Given the description of an element on the screen output the (x, y) to click on. 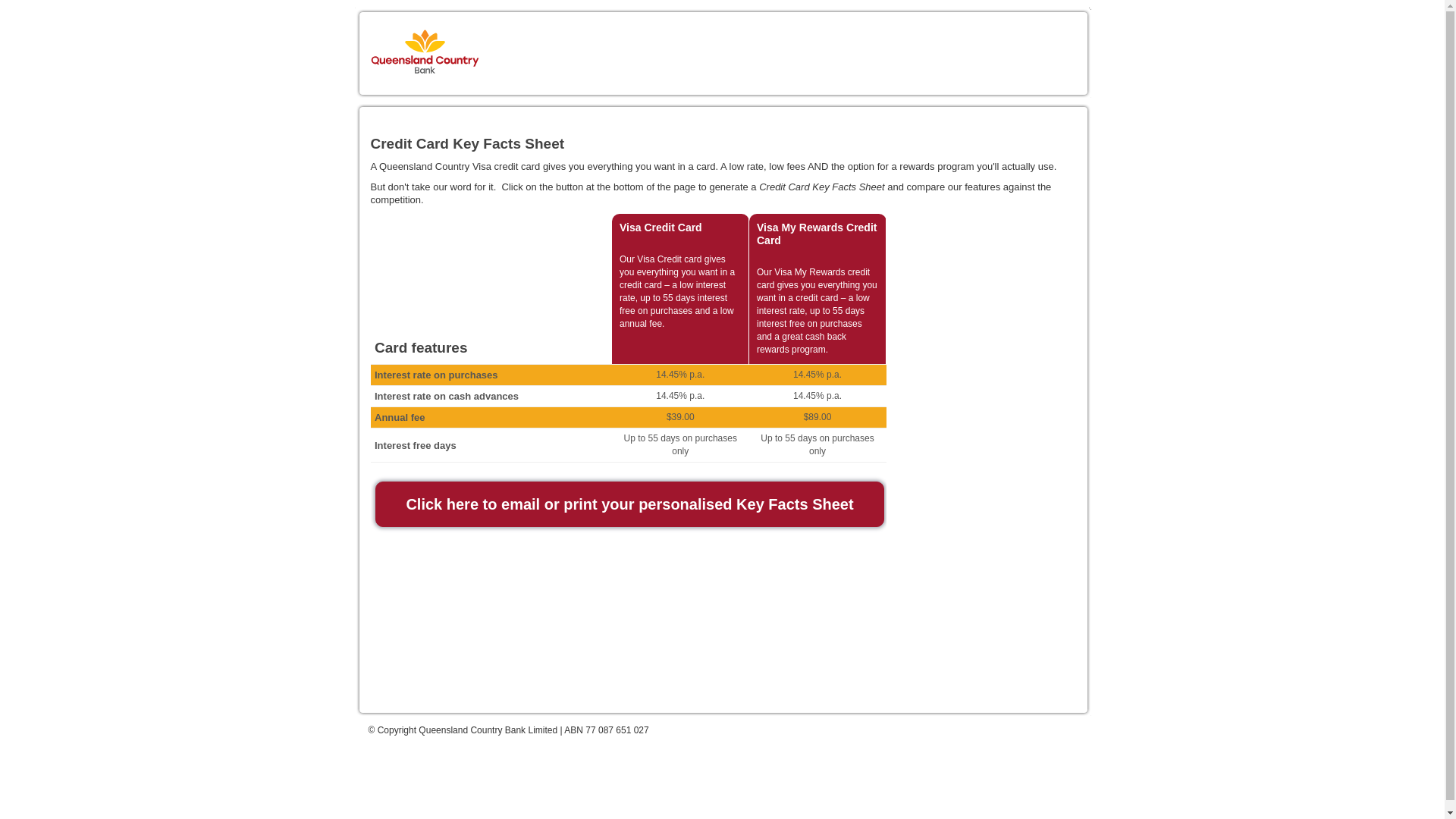
Twitter For Websites: Tweet Button Element type: hover (407, 693)
